Given the description of an element on the screen output the (x, y) to click on. 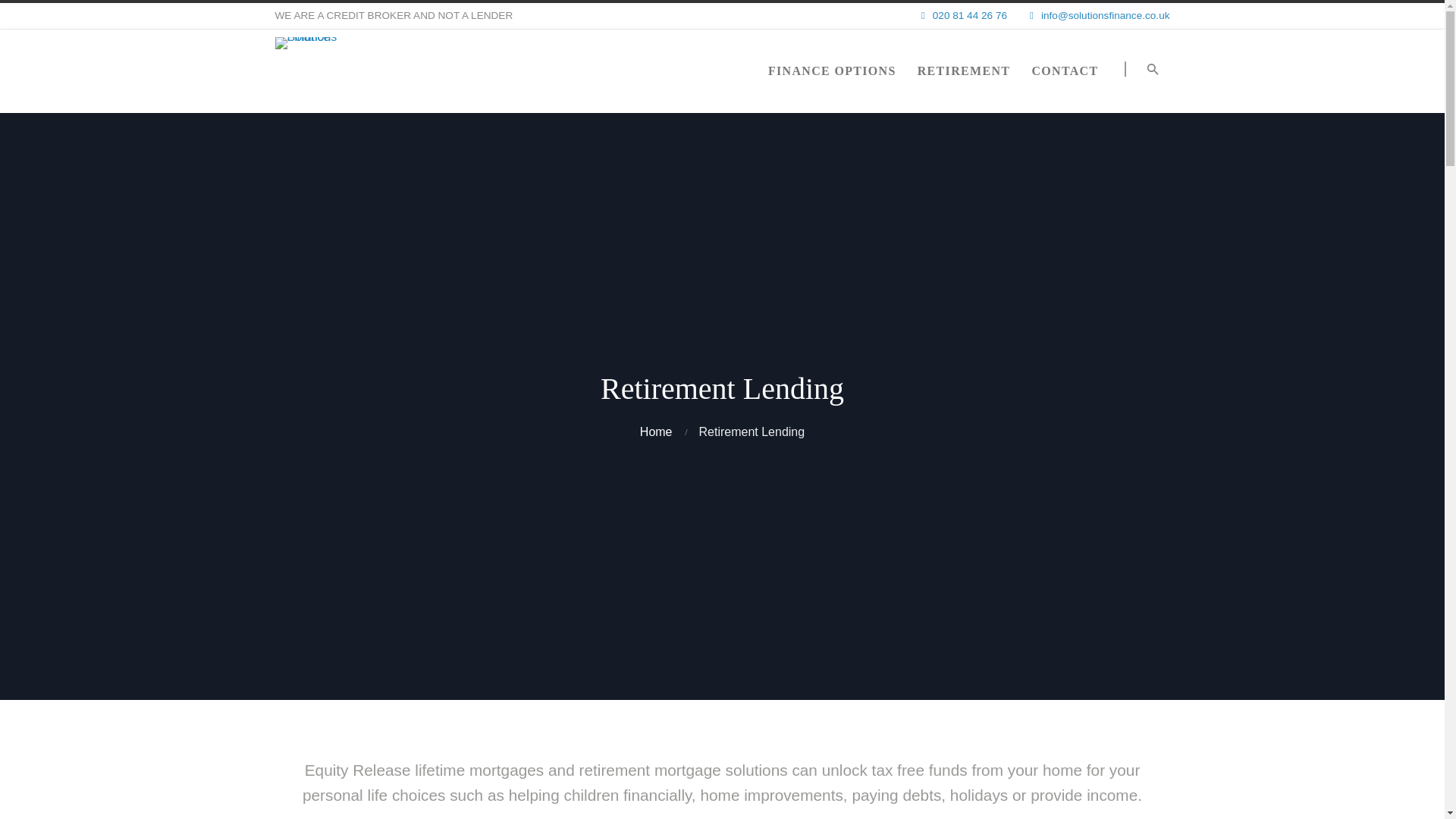
Email (1095, 15)
Phone (960, 15)
CONTACT (1064, 71)
RETIREMENT (964, 71)
Home (656, 431)
FINANCE OPTIONS (832, 71)
